Given the description of an element on the screen output the (x, y) to click on. 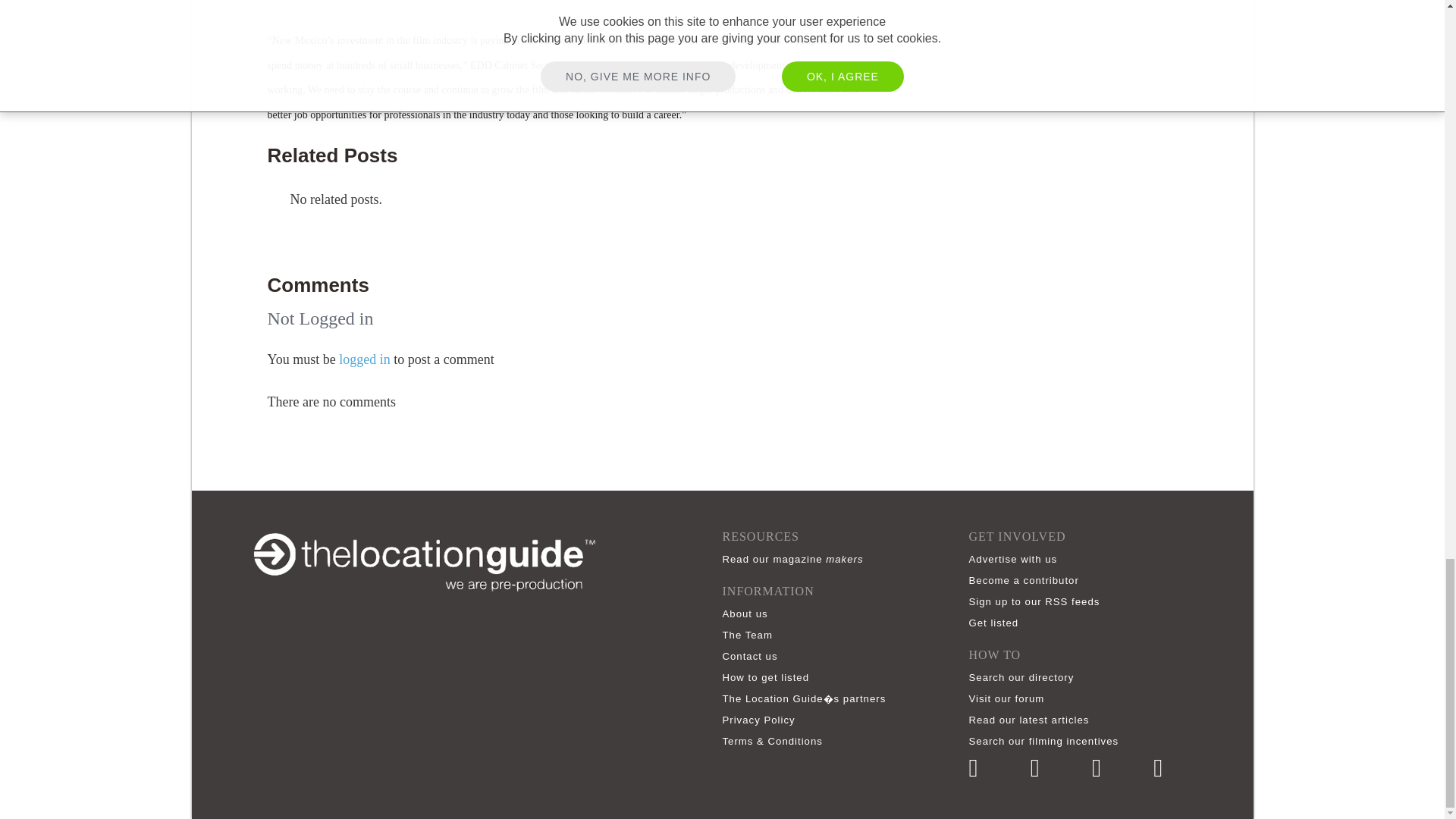
The Team (750, 634)
Read our magazine makers (796, 559)
Contact us (753, 655)
About us (748, 613)
How to get listed (769, 677)
logged in (364, 359)
